Given the description of an element on the screen output the (x, y) to click on. 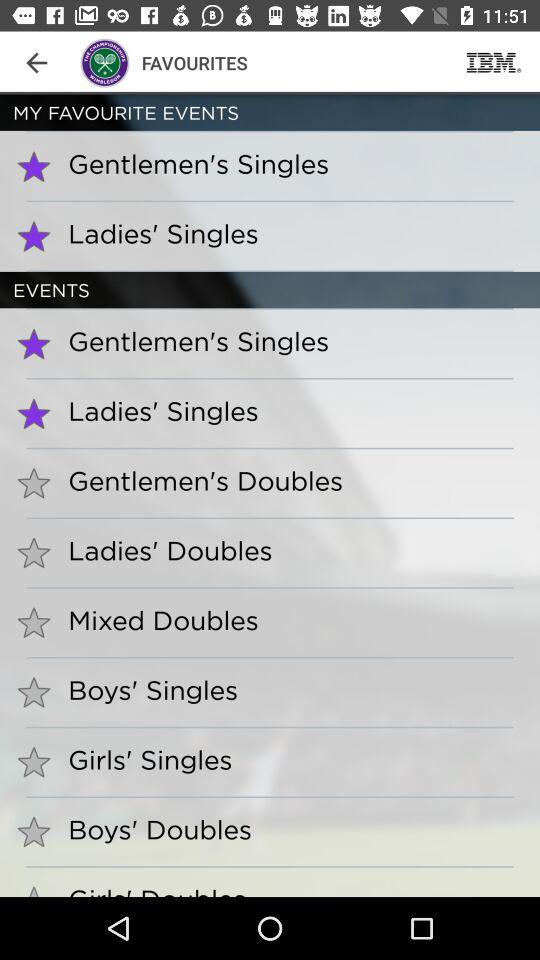
open the item at the top right corner (494, 62)
